Given the description of an element on the screen output the (x, y) to click on. 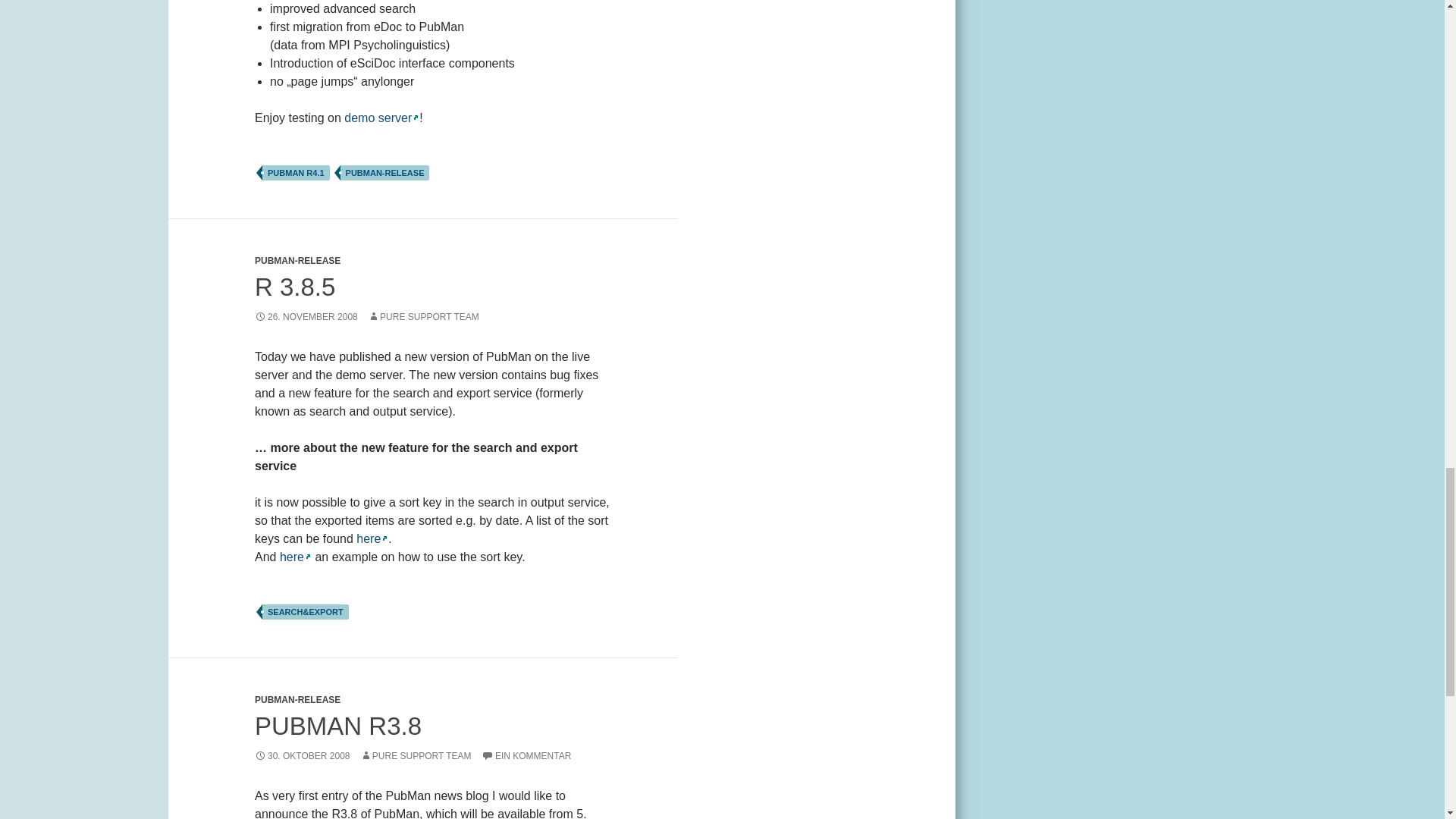
PUBMAN-RELEASE (297, 260)
PUBMAN R4.1 (296, 172)
PUBMAN-RELEASE (384, 172)
PubMan Test-Server (380, 117)
demo server (380, 117)
